Given the description of an element on the screen output the (x, y) to click on. 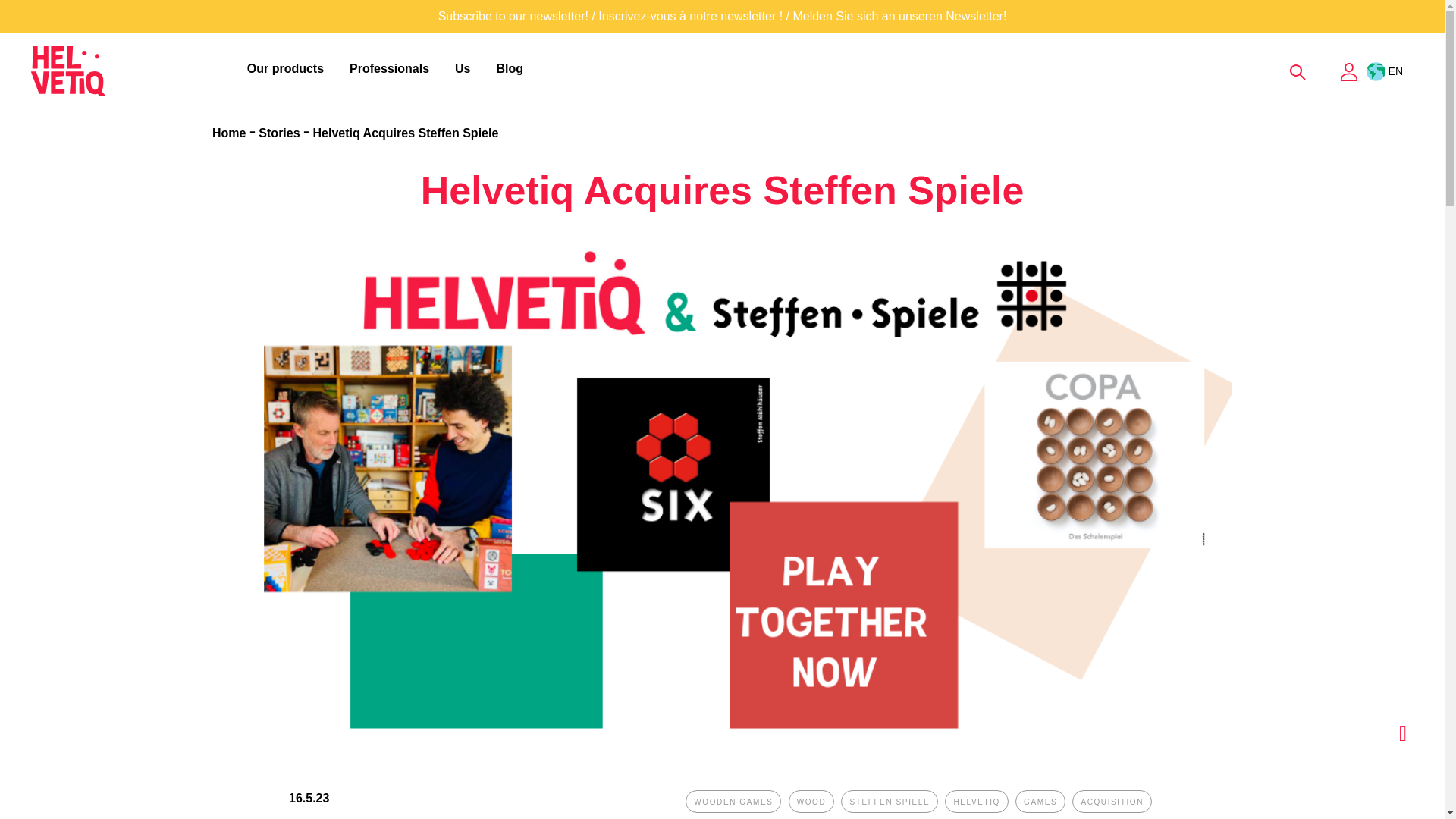
Professionals (392, 69)
steffen spiele (889, 801)
Helvetiq (134, 71)
Stories (280, 132)
Go to Home Page (230, 132)
wooden games (732, 801)
Us (464, 69)
Blog (509, 69)
Helvetiq (68, 71)
Our products (288, 69)
My Cart (1323, 70)
wood (811, 801)
